Given the description of an element on the screen output the (x, y) to click on. 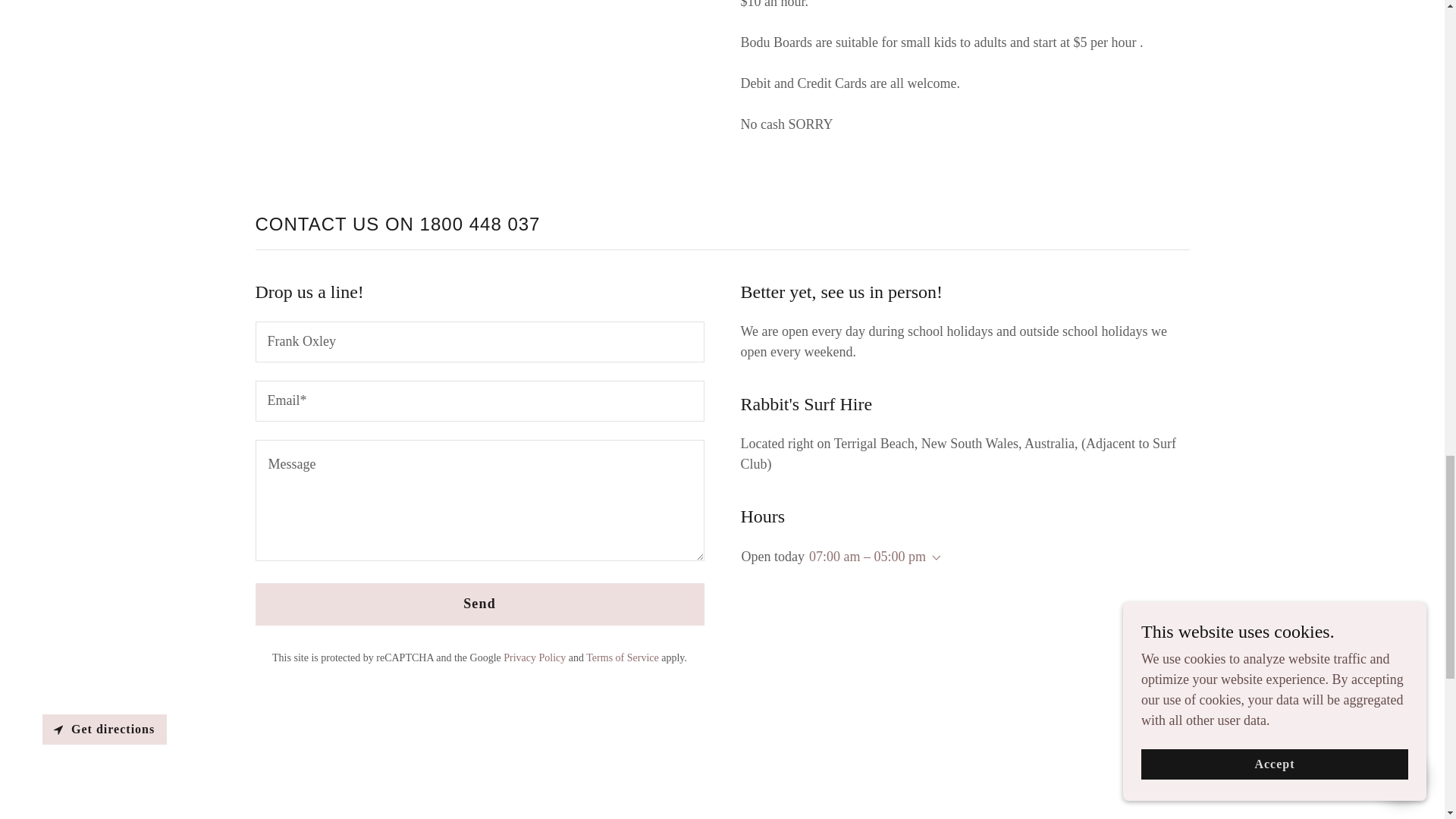
Send (478, 604)
Privacy Policy (534, 657)
Terms of Service (622, 657)
Get directions (104, 729)
